Given the description of an element on the screen output the (x, y) to click on. 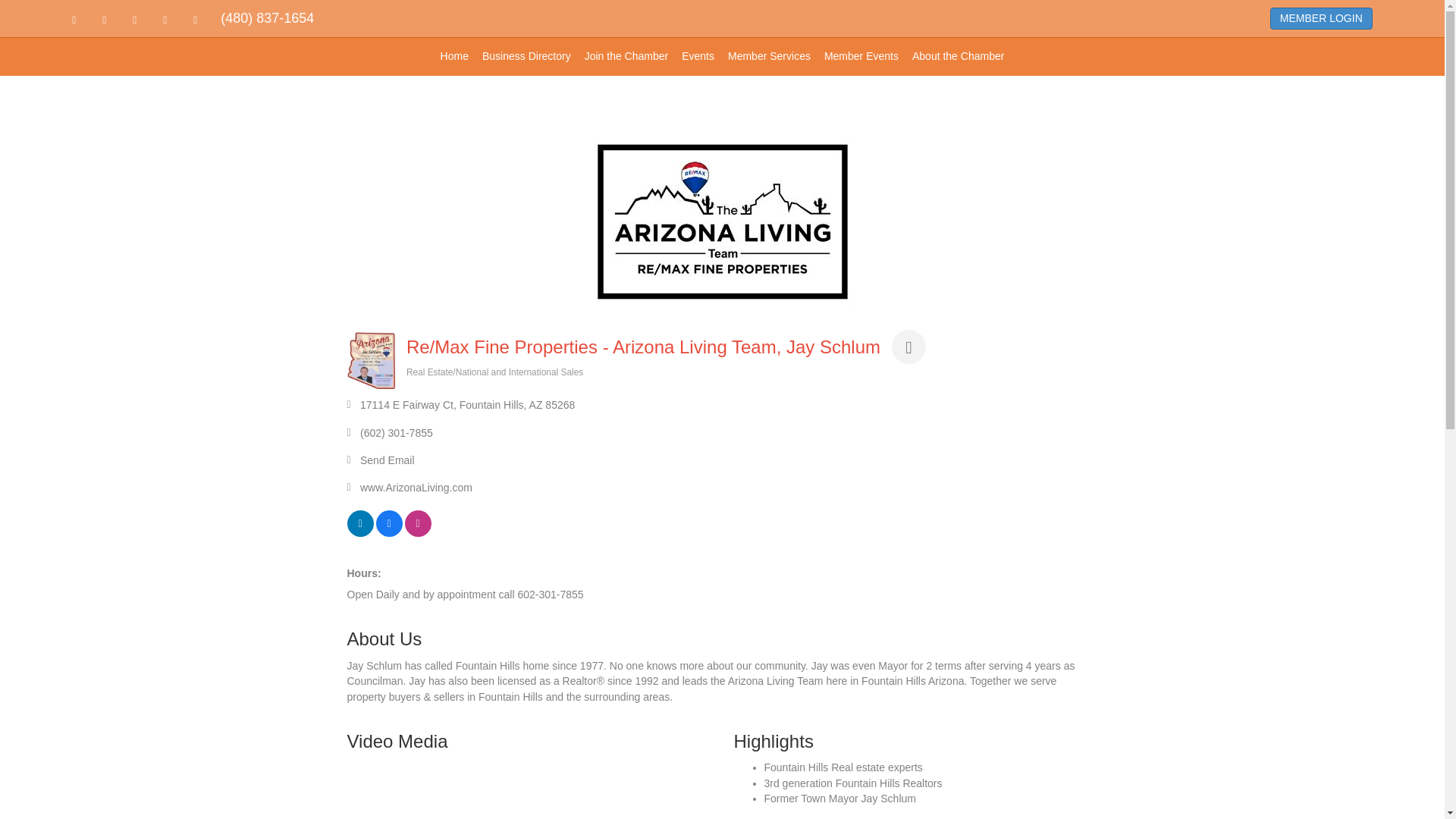
Home (454, 56)
View on instagram (417, 532)
MEMBER LOGIN (1321, 18)
Join the Chamber (626, 56)
Twitter (116, 19)
View on LinkedIn (360, 532)
Youtube (147, 19)
MEMBER LOGIN (1321, 18)
Instagram (178, 19)
Email (202, 19)
